Given the description of an element on the screen output the (x, y) to click on. 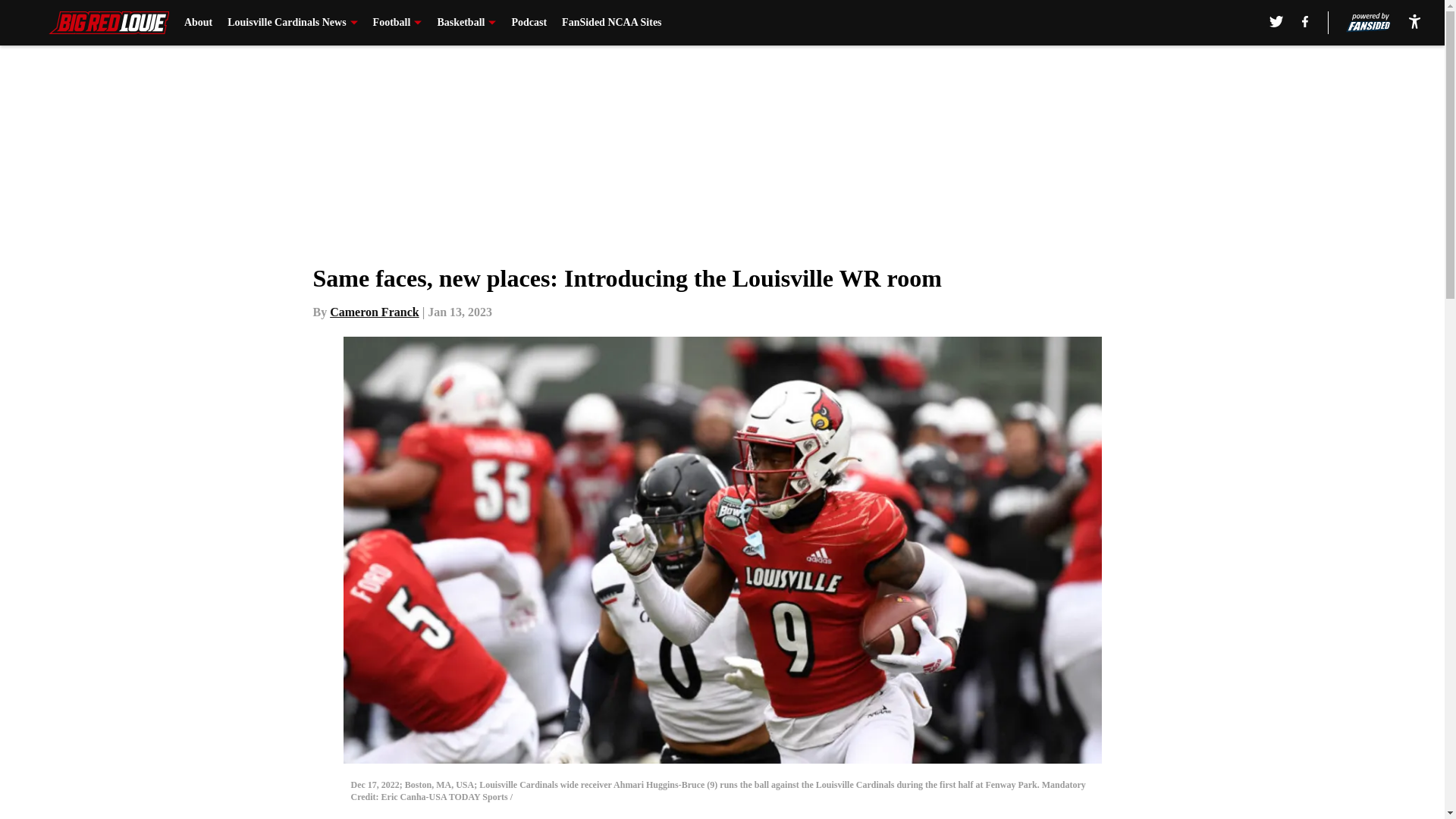
Podcast (529, 22)
About (198, 22)
Cameron Franck (374, 311)
FanSided NCAA Sites (611, 22)
